Given the description of an element on the screen output the (x, y) to click on. 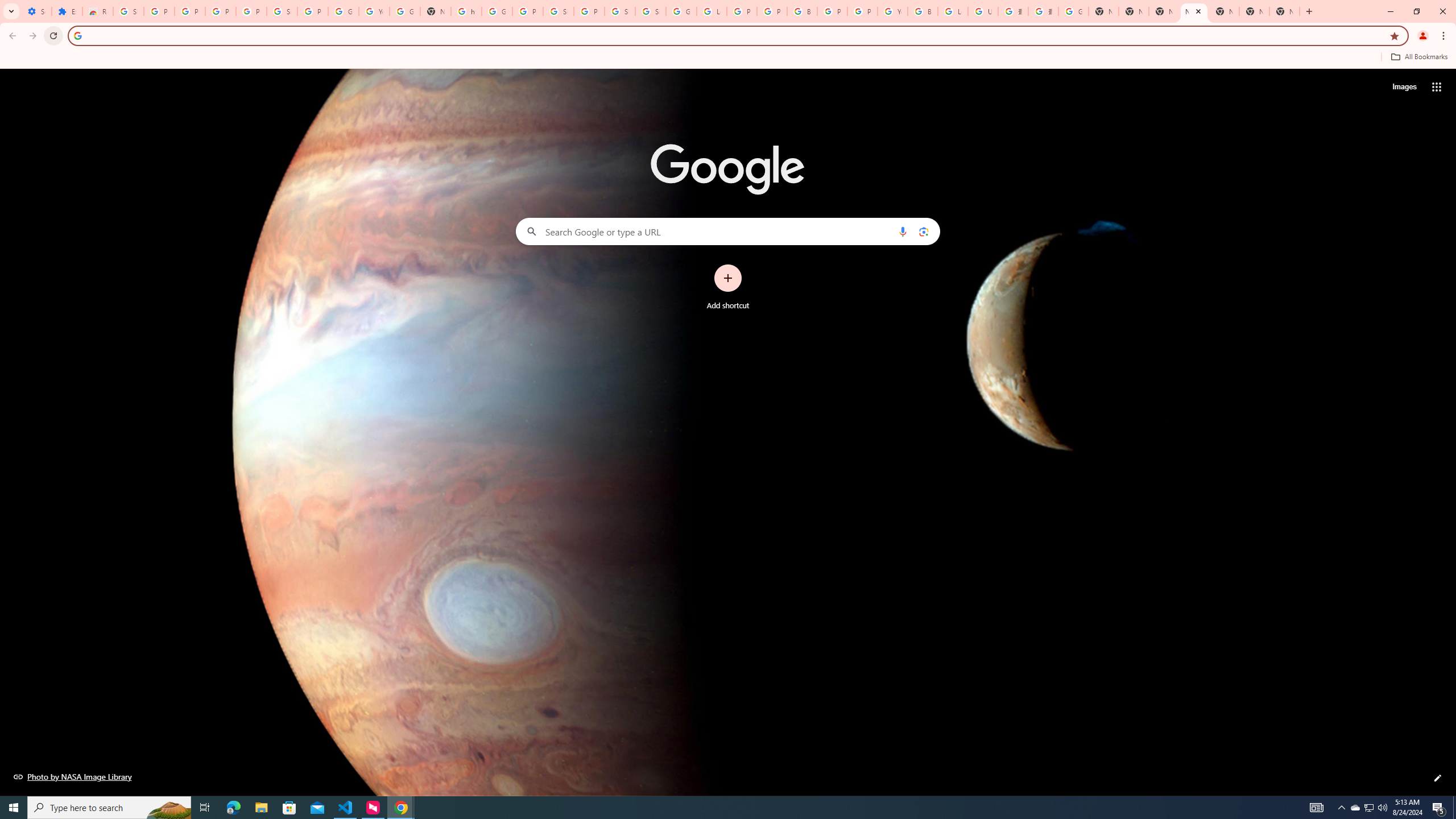
YouTube (892, 11)
https://scholar.google.com/ (465, 11)
Add shortcut (727, 287)
New Tab (1283, 11)
Sign in - Google Accounts (619, 11)
Sign in - Google Accounts (650, 11)
Extensions (66, 11)
